Given the description of an element on the screen output the (x, y) to click on. 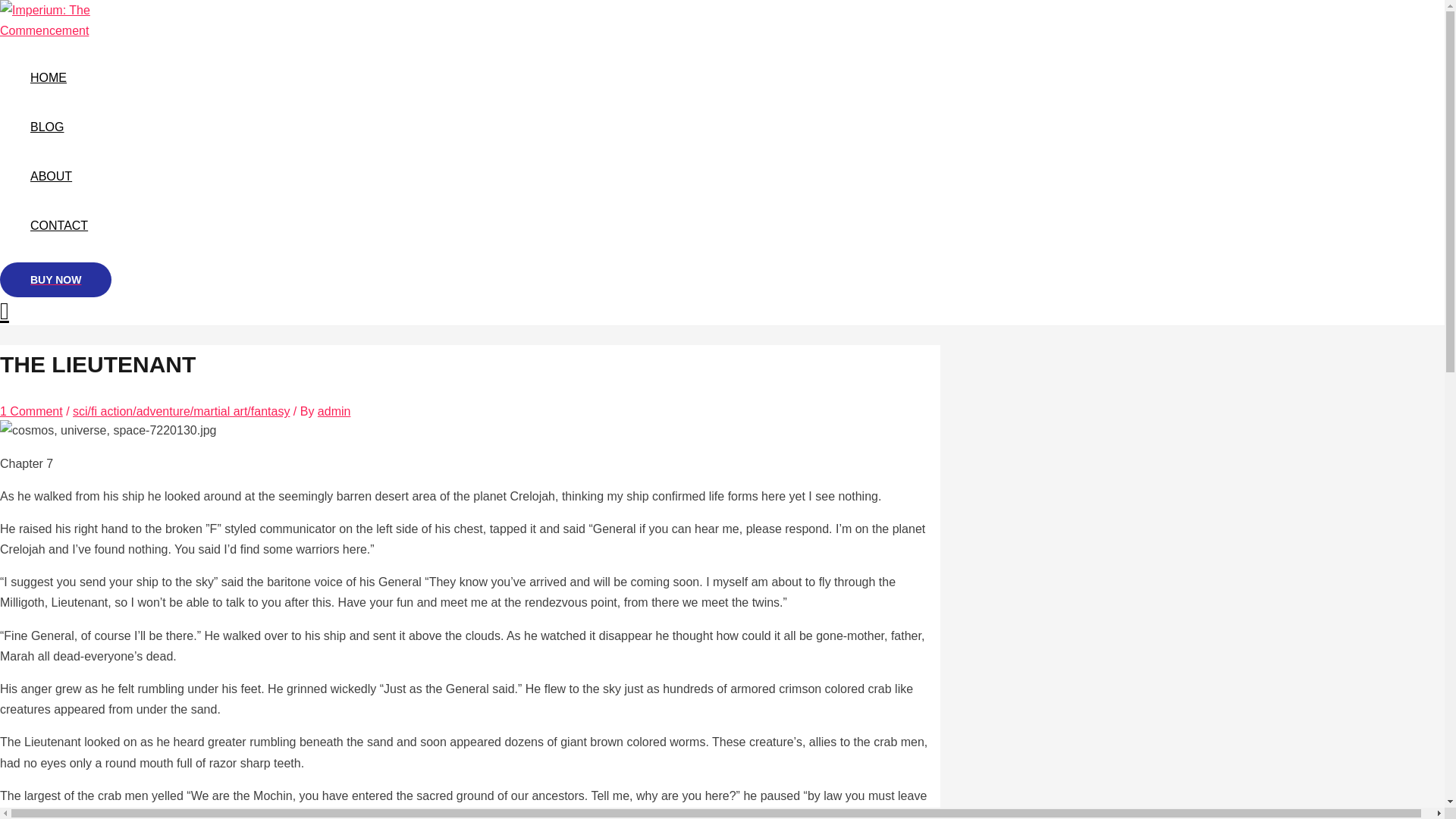
BUY NOW (56, 279)
ABOUT (58, 175)
HOME (58, 77)
BLOG (58, 126)
View all posts by admin (333, 410)
CONTACT (58, 225)
admin (333, 410)
1 Comment (31, 410)
